Given the description of an element on the screen output the (x, y) to click on. 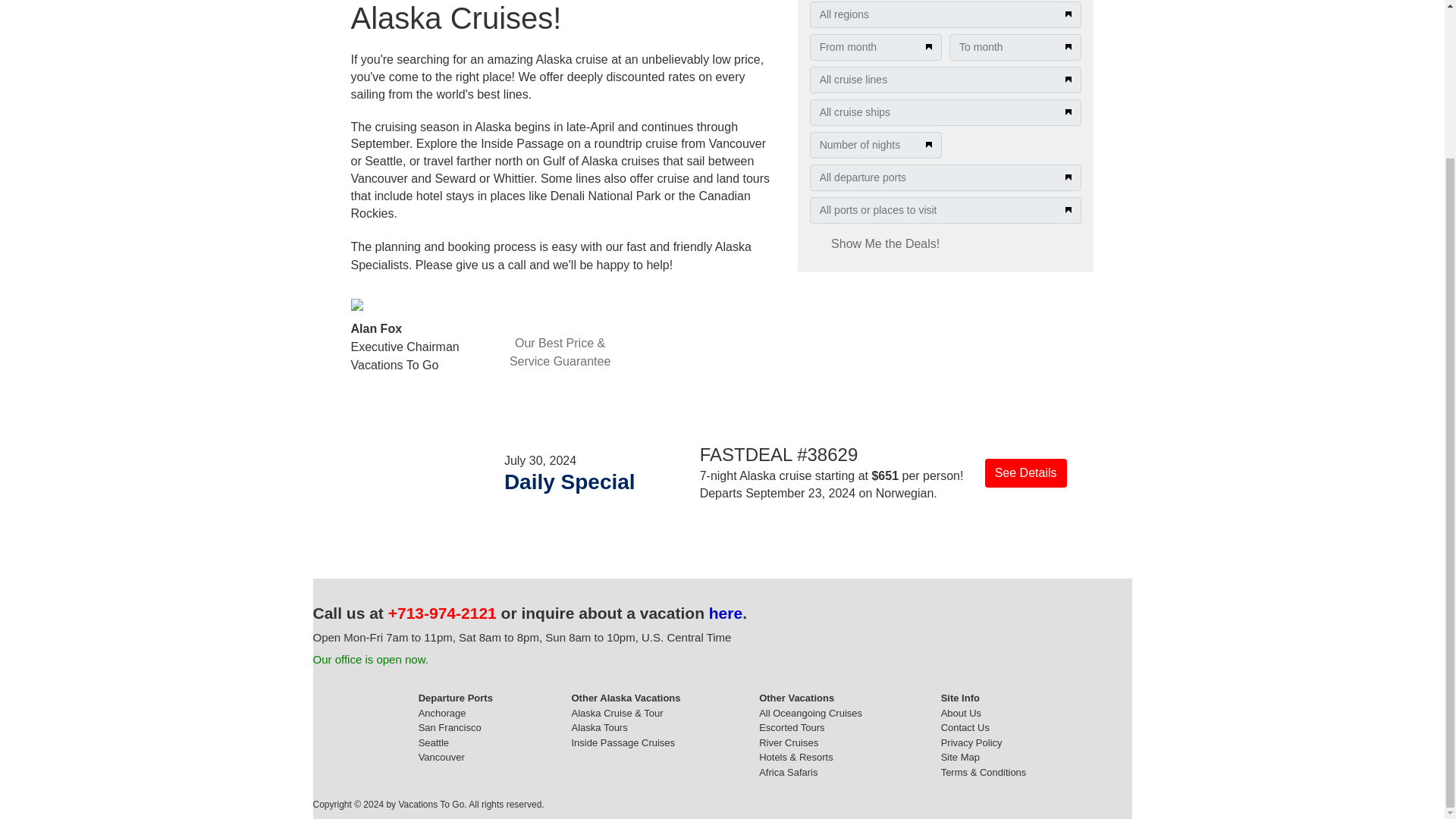
Show Me the Deals! (884, 244)
